Given the description of an element on the screen output the (x, y) to click on. 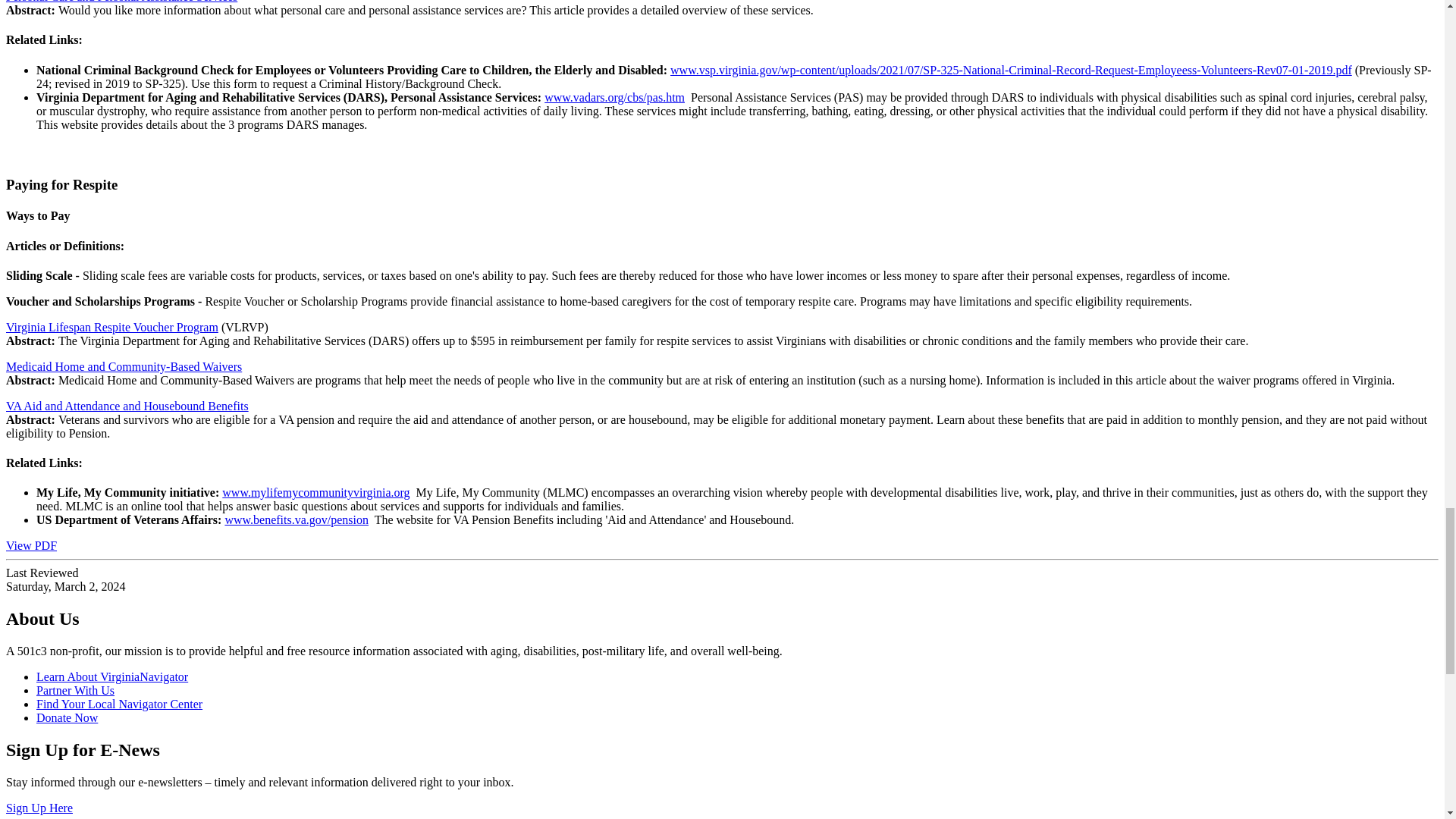
About Us (111, 676)
